Given the description of an element on the screen output the (x, y) to click on. 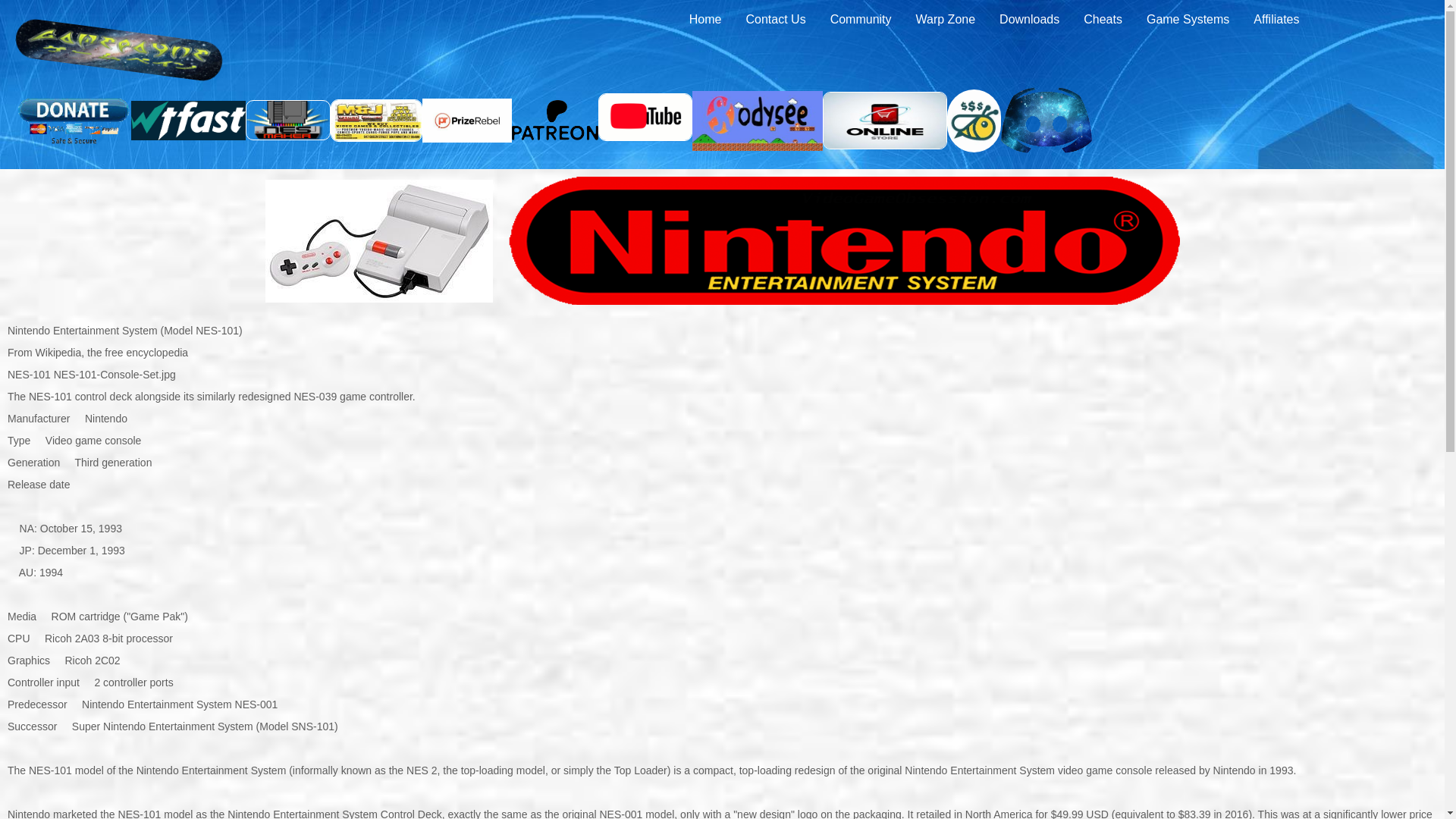
Affiliates (1276, 18)
Cheats (1102, 18)
Contact Us (774, 18)
Home (705, 18)
Community (861, 18)
Downloads (1029, 18)
Warp Zone (946, 18)
Game Systems (1187, 18)
